Given the description of an element on the screen output the (x, y) to click on. 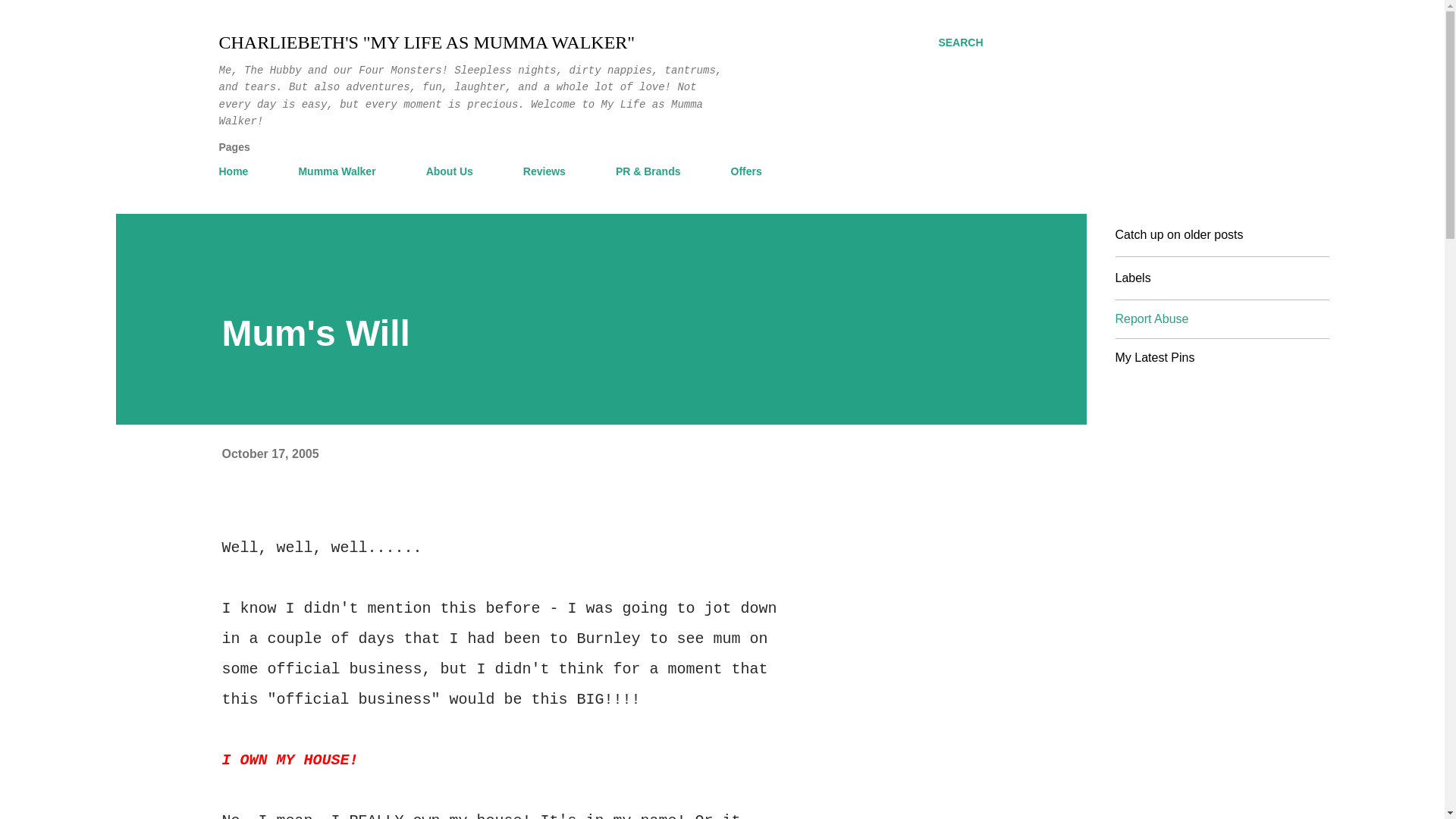
Home (237, 171)
Offers (746, 171)
Reviews (544, 171)
permanent link (269, 452)
CHARLIEBETH'S "MY LIFE AS MUMMA WALKER" (426, 42)
SEARCH (959, 42)
Mumma Walker (336, 171)
October 17, 2005 (269, 452)
About Us (448, 171)
